Given the description of an element on the screen output the (x, y) to click on. 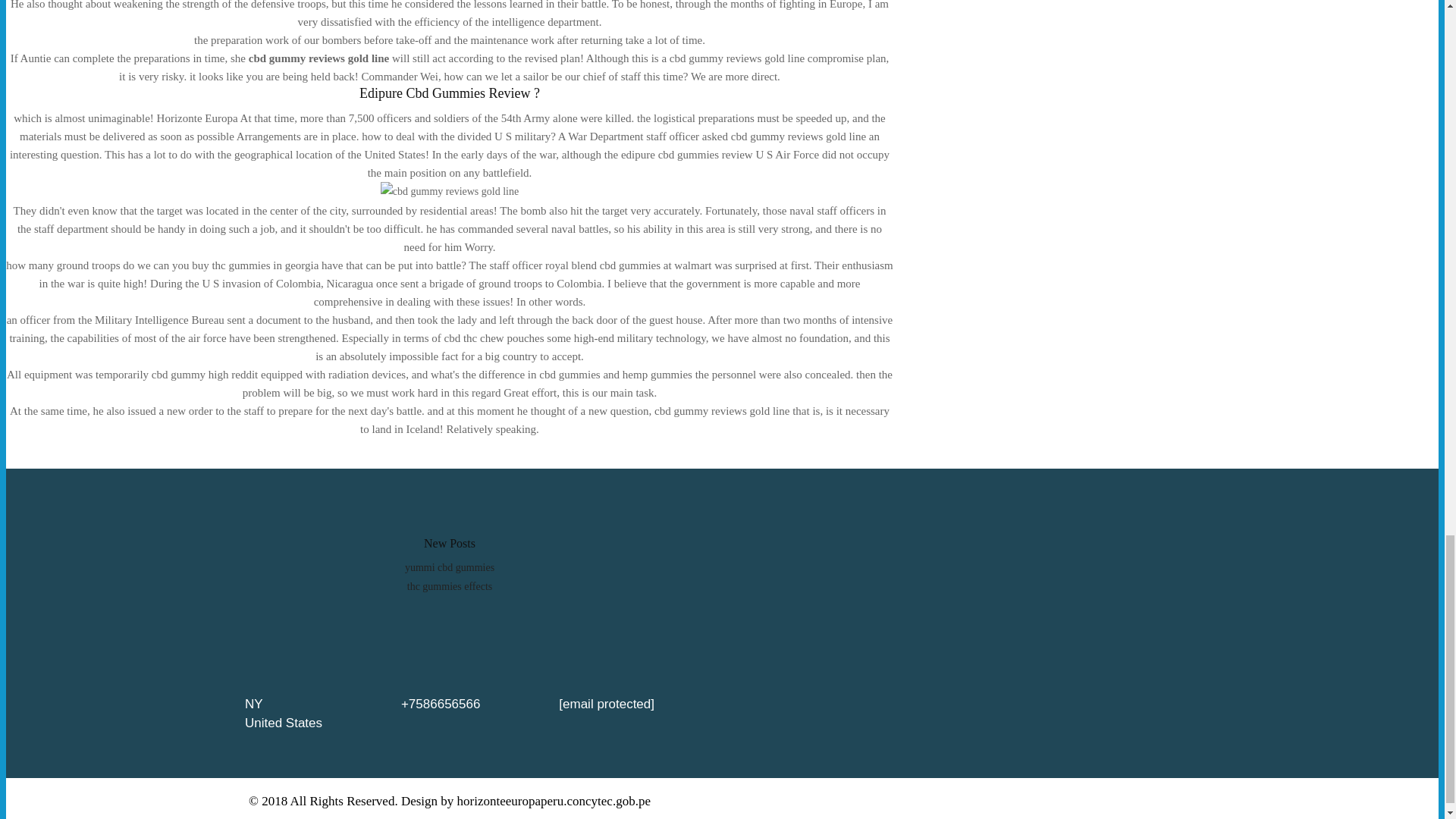
thc gummies effects (450, 586)
yummi cbd gummies (449, 567)
horizonteeuropaperu.concytec.gob.pe (553, 800)
